Given the description of an element on the screen output the (x, y) to click on. 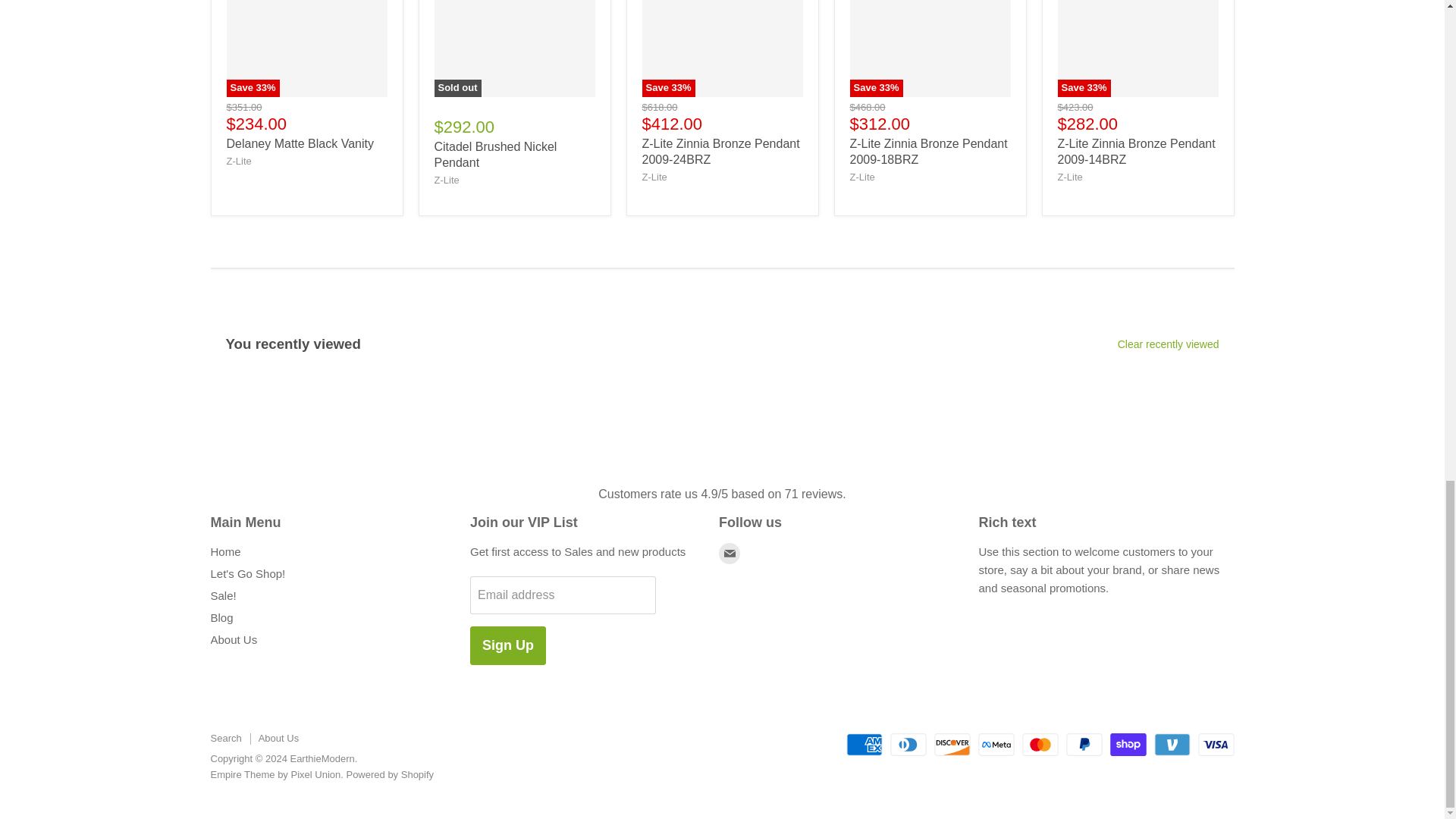
Meta Pay (996, 744)
PayPal (1083, 744)
American Express (863, 744)
Discover (952, 744)
Visa (1216, 744)
Mastercard (1040, 744)
Diners Club (907, 744)
Venmo (1172, 744)
Shop Pay (1128, 744)
E-mail (729, 553)
